Given the description of an element on the screen output the (x, y) to click on. 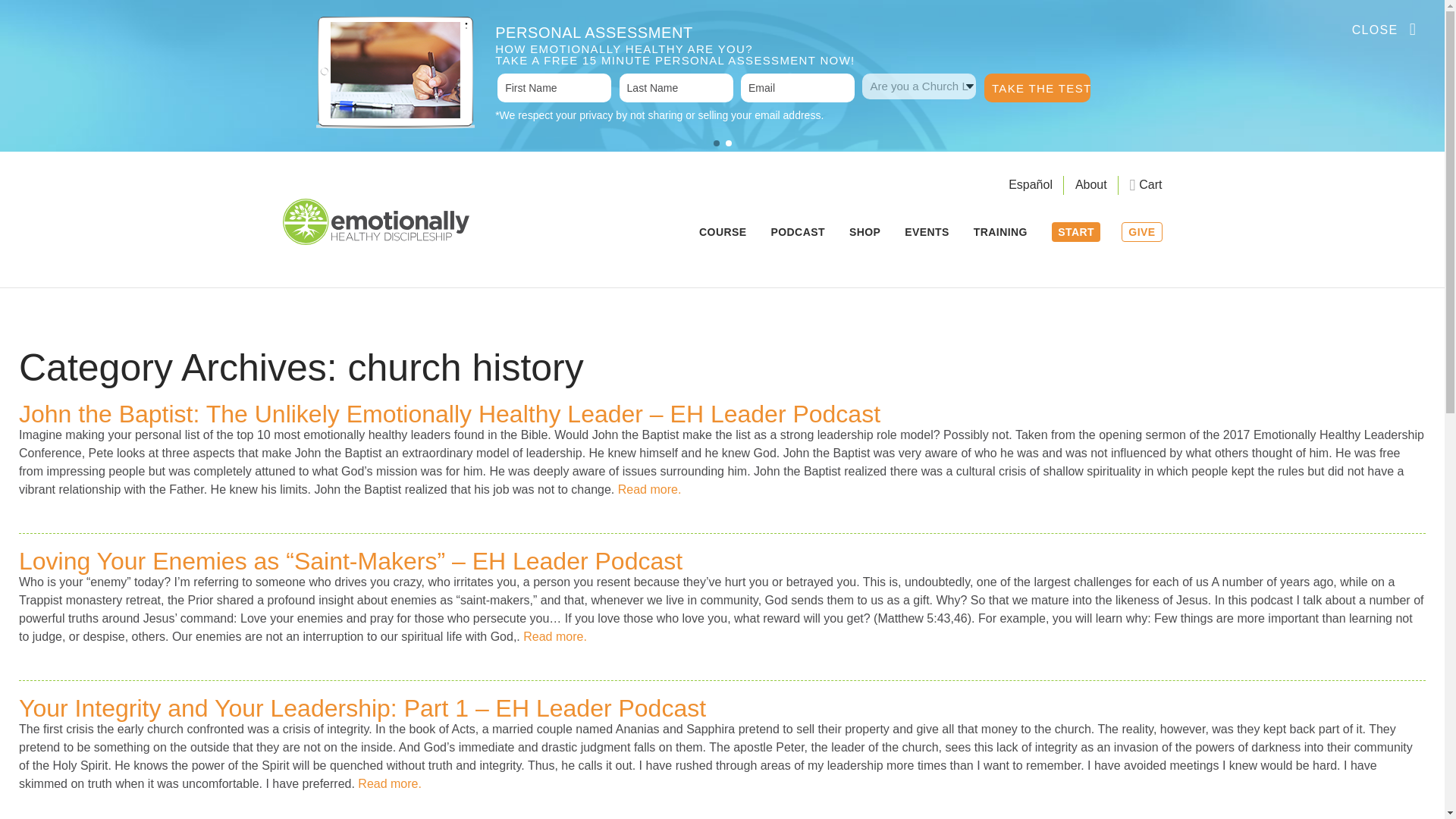
COURSE (721, 235)
EVENTS (926, 235)
SHOP (864, 235)
About (1090, 184)
GIVE (1141, 231)
PODCAST (798, 235)
Take the Test (1037, 87)
Emotionally Healthy Discipleship (375, 221)
Take the Test (1037, 87)
Cart (1145, 184)
